Given the description of an element on the screen output the (x, y) to click on. 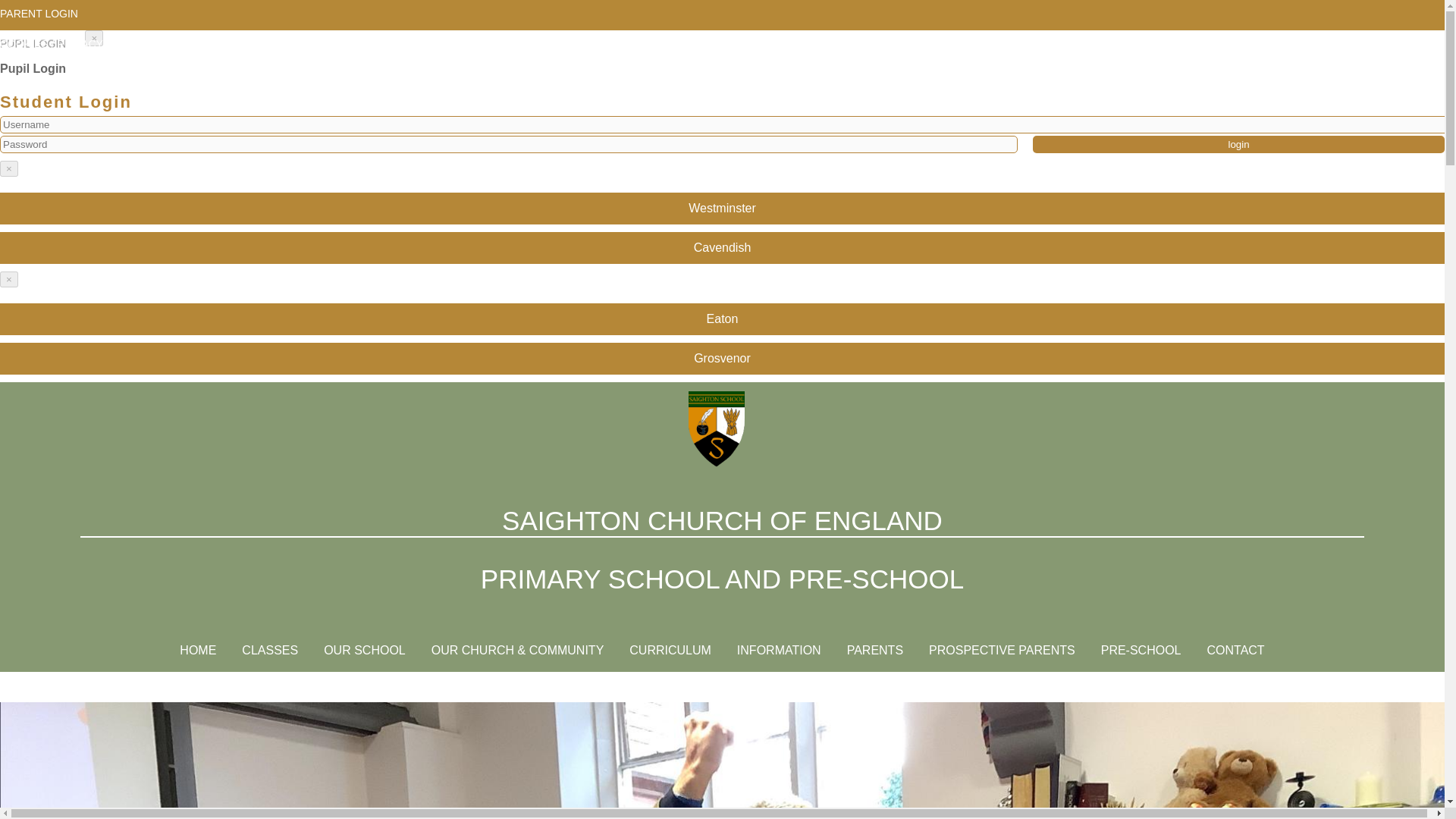
login (1238, 144)
Grosvenor (722, 358)
login (1238, 144)
PUPIL LOGIN (37, 43)
Westminster (722, 208)
OUR SCHOOL (365, 649)
Cavendish (722, 247)
Eaton (722, 318)
CURRICULUM (669, 649)
CLASSES (269, 649)
